Given the description of an element on the screen output the (x, y) to click on. 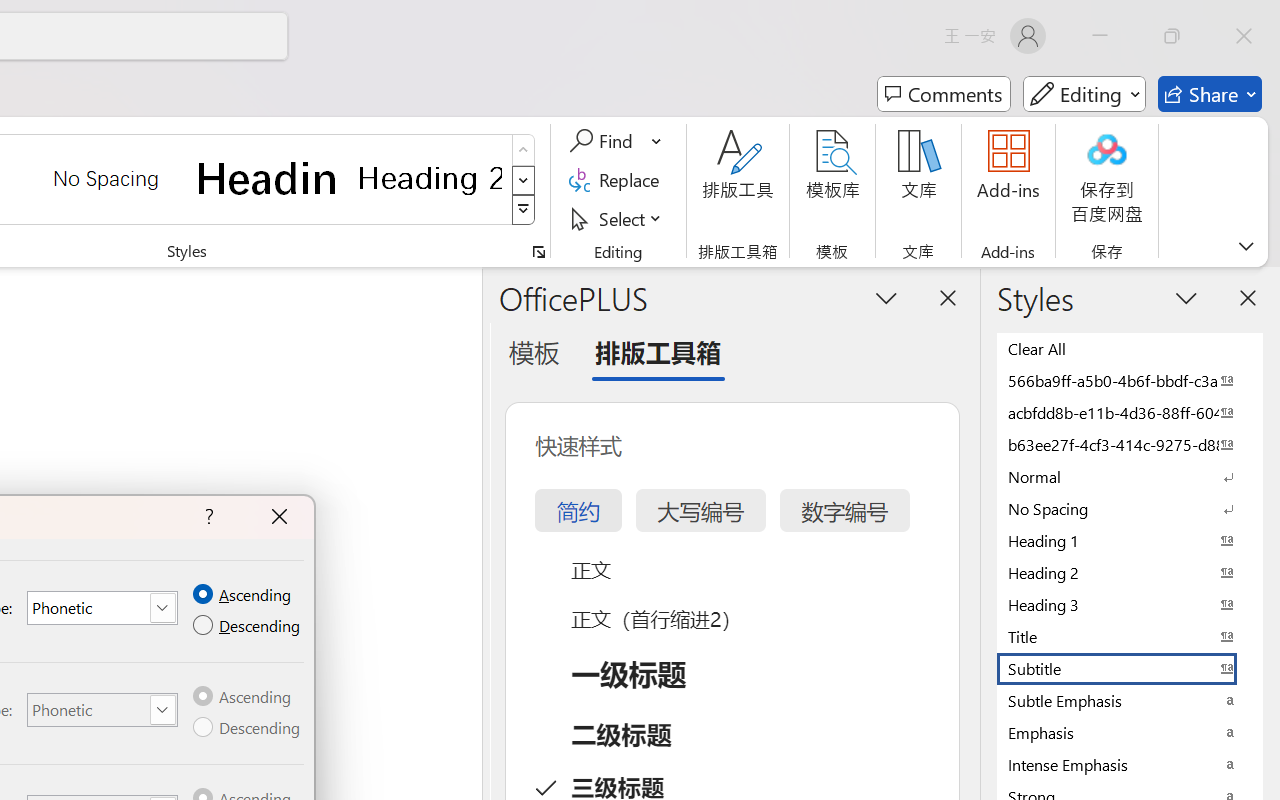
Subtitle (1130, 668)
Ribbon Display Options (1246, 245)
Share (1210, 94)
Title (1130, 636)
Heading 3 (1130, 604)
No Spacing (1130, 508)
